Given the description of an element on the screen output the (x, y) to click on. 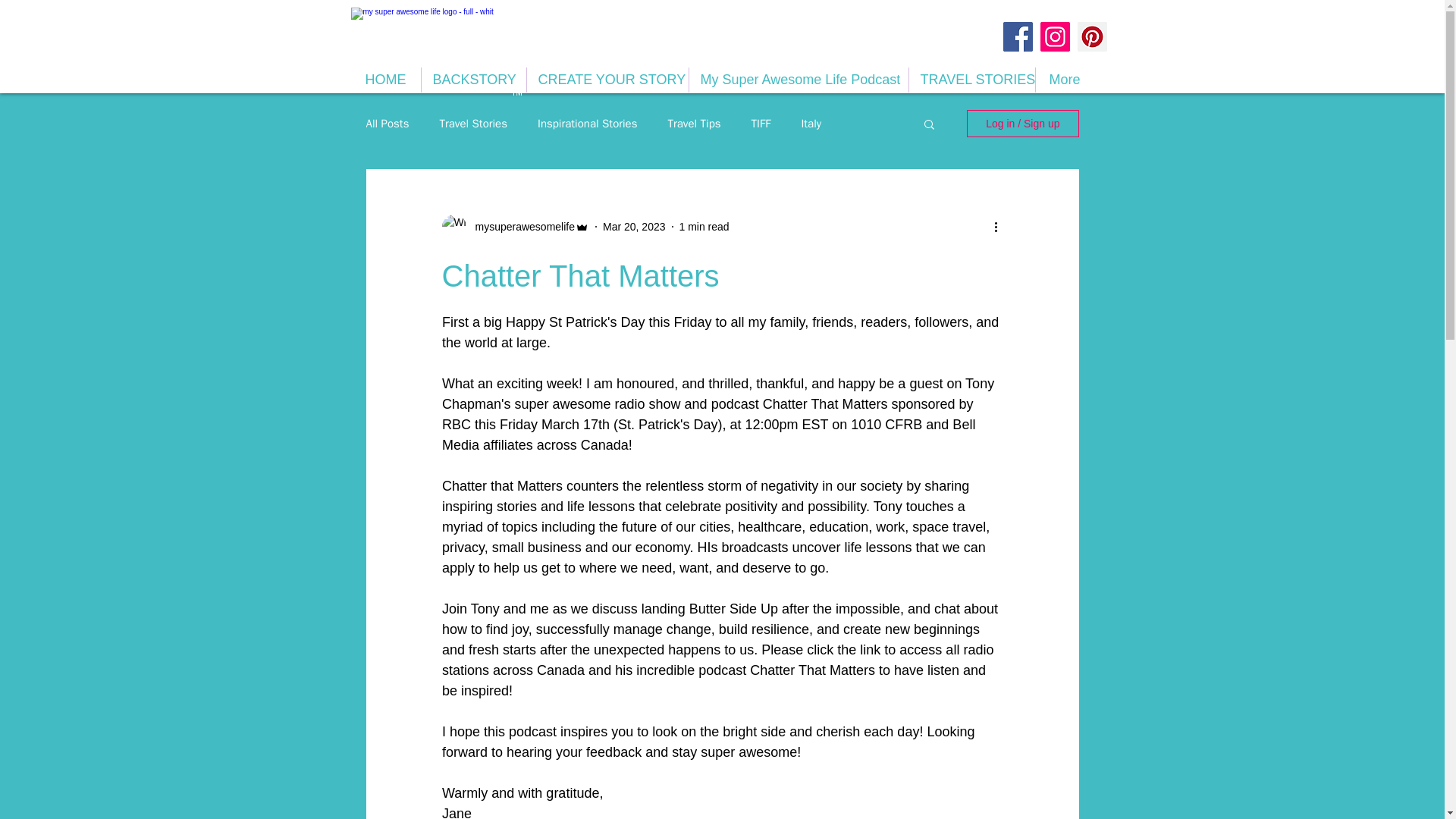
Travel Stories (472, 124)
Mar 20, 2023 (633, 225)
CREATE YOUR STORY (606, 79)
Inspirational Stories (587, 124)
All Posts (387, 124)
TIFF (761, 124)
mysuperawesomelife (520, 226)
TRAVEL STORIES (970, 79)
BACKSTORY (473, 79)
Italy (810, 124)
Travel Tips (693, 124)
My Super Awesome Life Podcast (797, 79)
HOME (385, 79)
1 min read (704, 225)
